Given the description of an element on the screen output the (x, y) to click on. 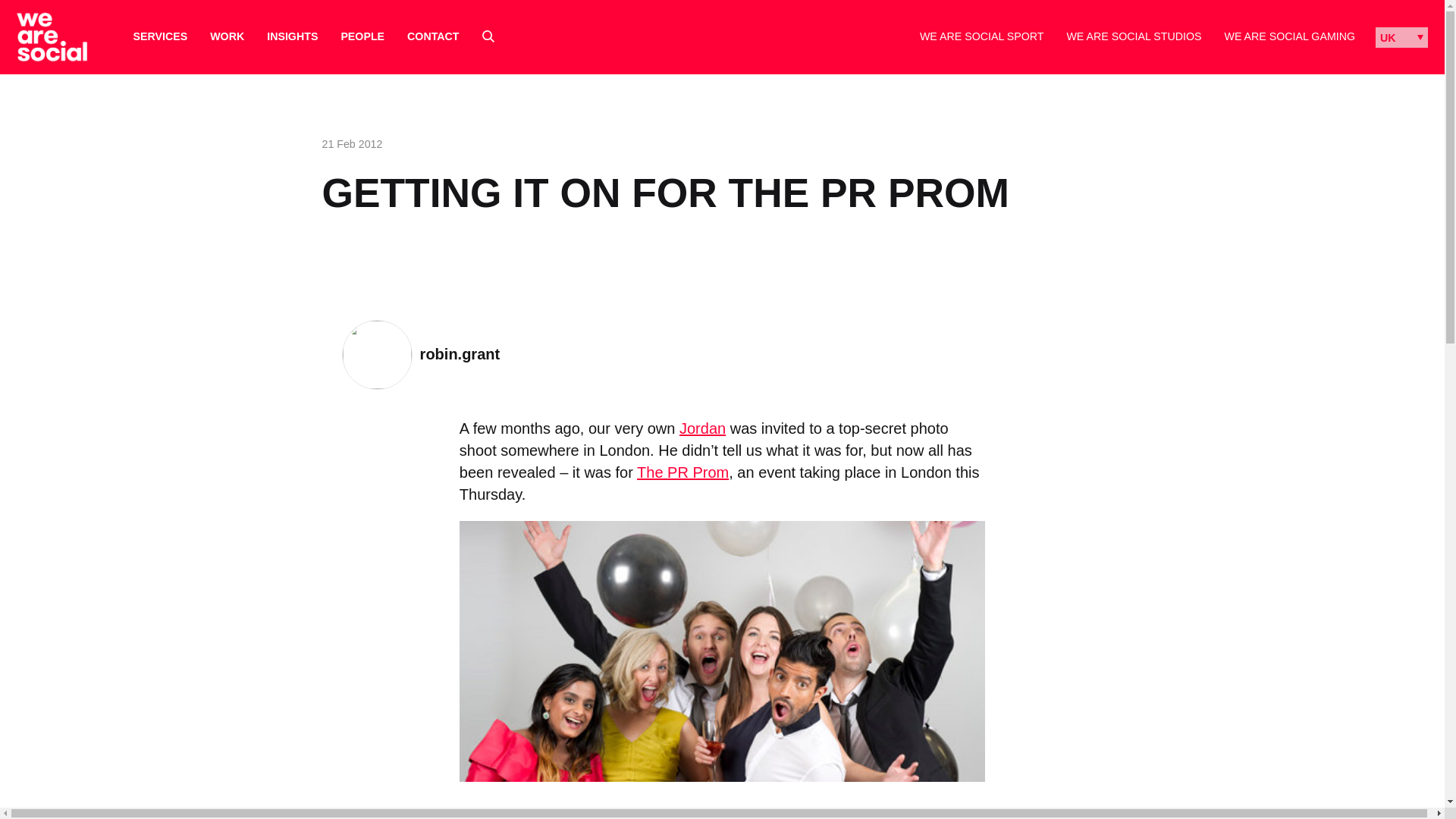
WE ARE SOCIAL GAMING (1289, 36)
WE ARE SOCIAL SPORT (981, 36)
PEOPLE (362, 36)
CONTACT (432, 36)
We Are Social Studios (1133, 36)
We Are Social Sport (981, 36)
Insights (291, 36)
INSIGHTS (291, 36)
WORK (226, 36)
